Given the description of an element on the screen output the (x, y) to click on. 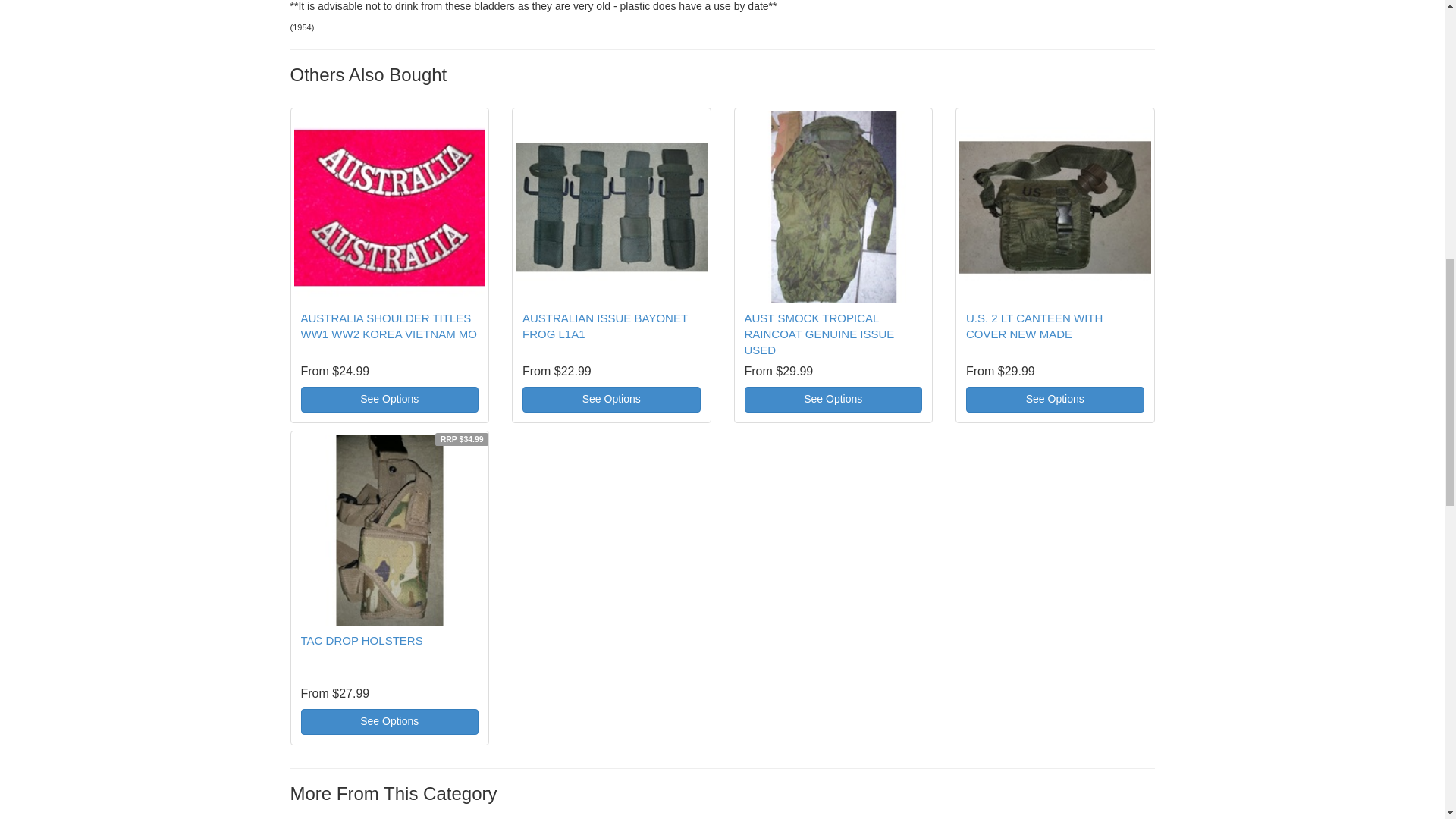
AUSTRALIA SHOULDER TITLES WW1 WW2 KOREA VIETNAM MODERN (388, 326)
Buying Options (389, 399)
AUSTRALIAN ISSUE BAYONET FROG L1A1 (604, 326)
Buying Options (611, 399)
AUST SMOCK TROPICAL RAINCOAT GENUINE ISSUE USED (819, 334)
Buying Options (833, 399)
TAC DROP HOLSTERS (360, 640)
Buying Options (1055, 399)
U.S. 2 LT CANTEEN WITH COVER NEW MADE (1034, 326)
Buying Options (389, 721)
